Given the description of an element on the screen output the (x, y) to click on. 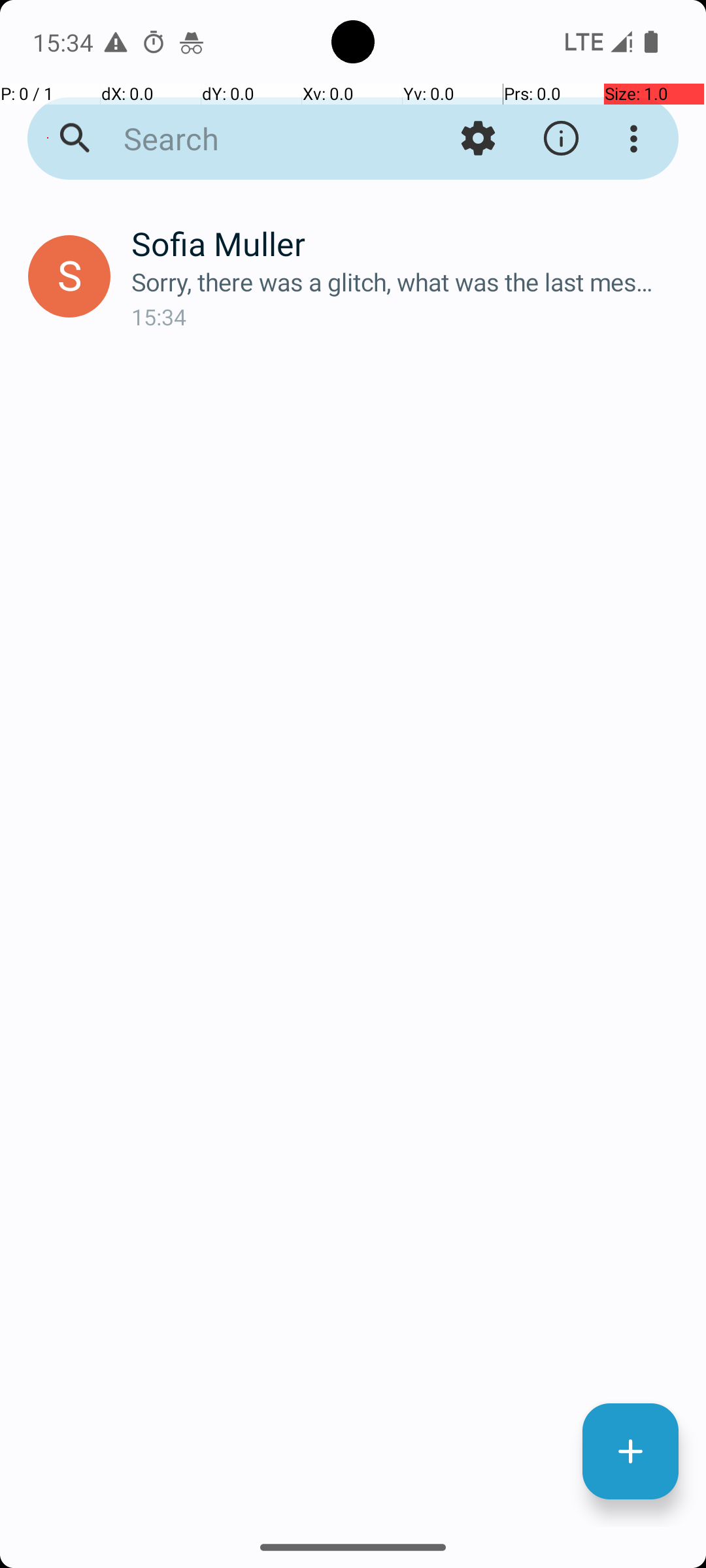
Sofia Muller Element type: android.widget.TextView (408, 242)
